Given the description of an element on the screen output the (x, y) to click on. 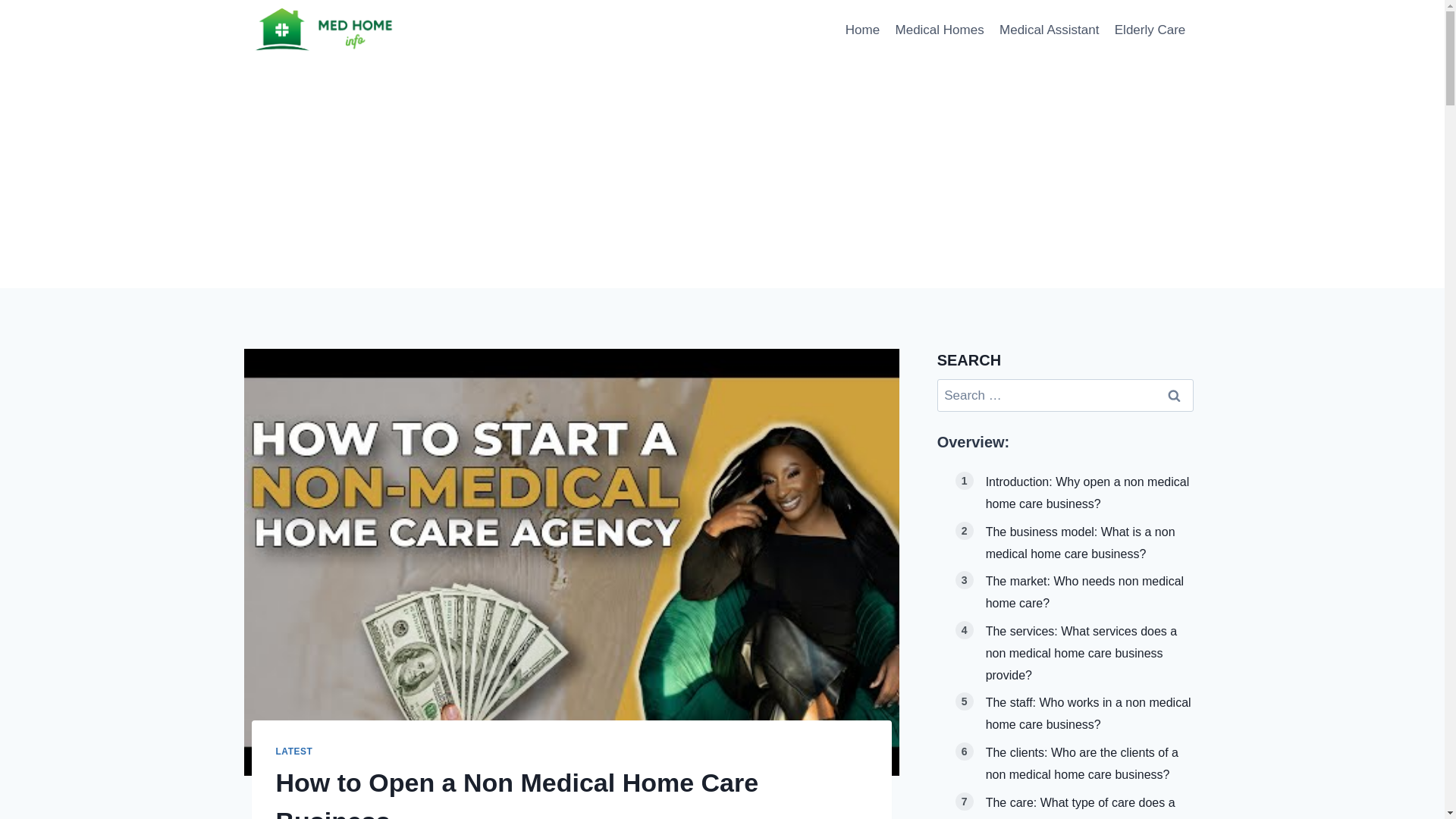
Search (1174, 395)
Search (1174, 395)
Home (863, 30)
Elderly Care (1149, 30)
Medical Homes (938, 30)
Medical Assistant (1048, 30)
LATEST (294, 751)
